Given the description of an element on the screen output the (x, y) to click on. 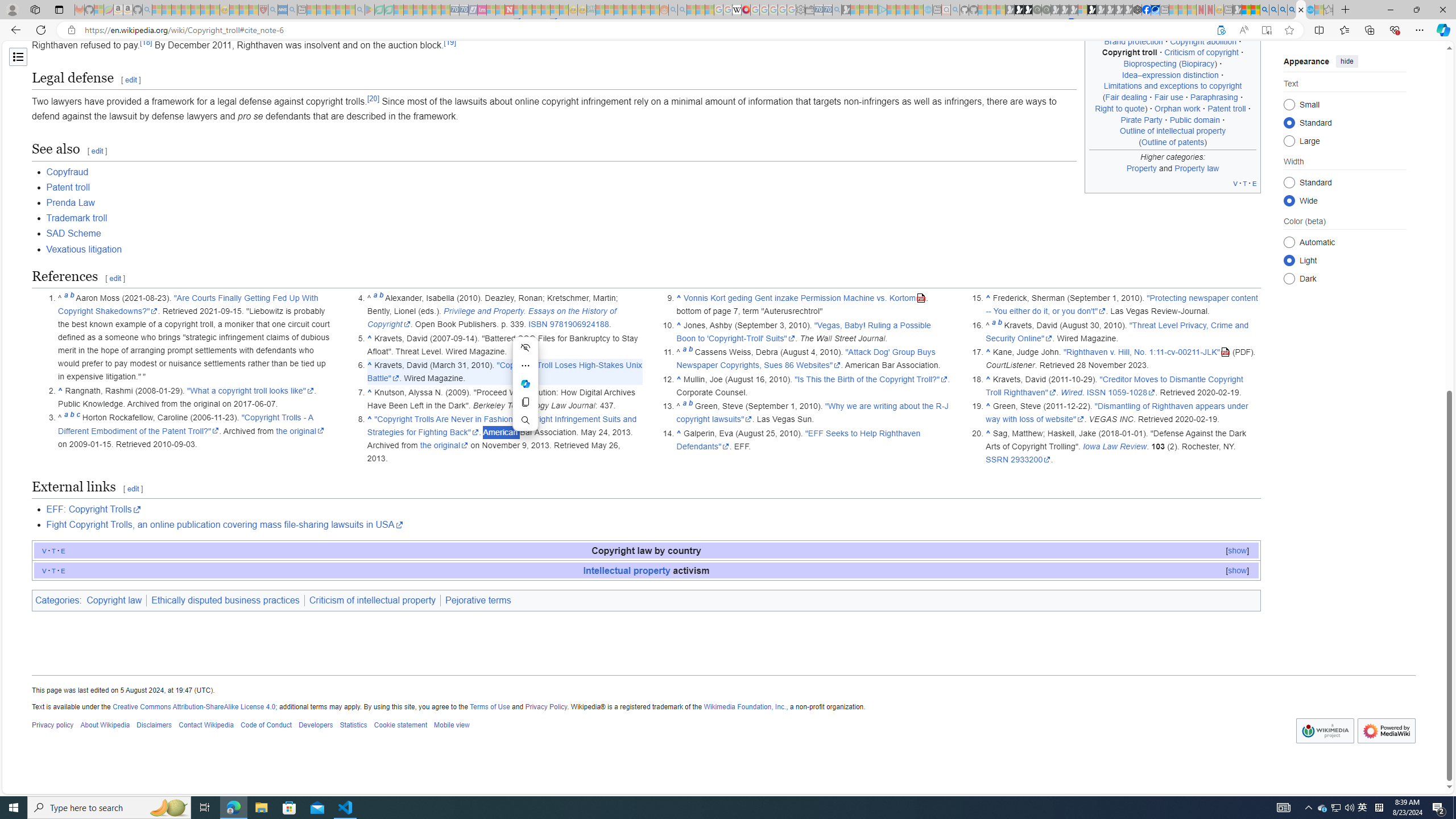
DITOGAMES AG Imprint - Sleeping (590, 9)
Privacy policy (53, 725)
Kinda Frugal - MSN - Sleeping (636, 9)
Copyfraud (67, 171)
Criticism of intellectual property (372, 600)
About Wikipedia (104, 725)
